Given the description of an element on the screen output the (x, y) to click on. 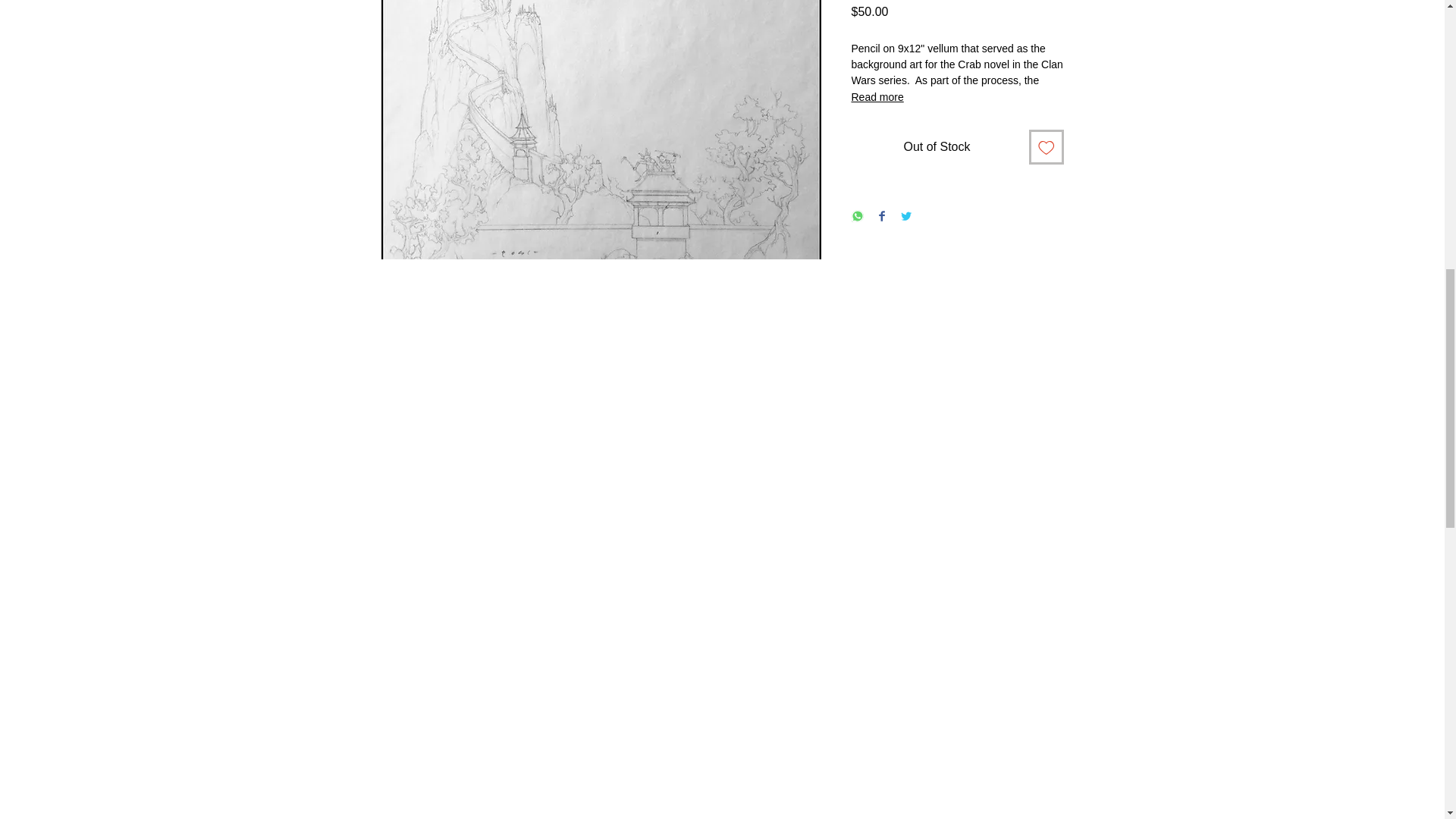
Read more (956, 96)
Out of Stock (936, 146)
